Given the description of an element on the screen output the (x, y) to click on. 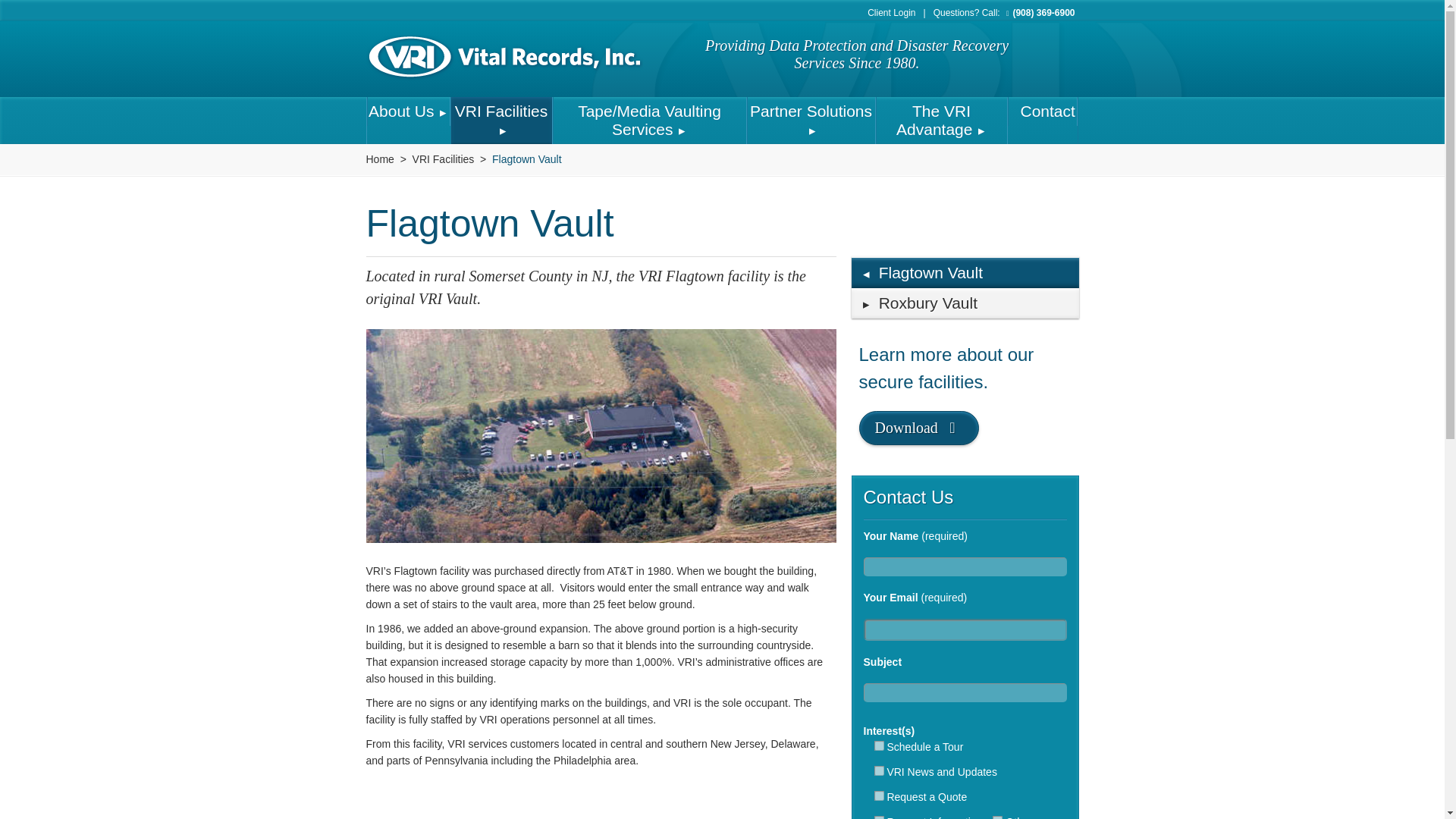
Home (379, 159)
Request Information (878, 817)
VRI Facilities (443, 159)
Client Login (898, 12)
Contact (1043, 111)
Roxbury Vault (964, 303)
Request a Quote (878, 795)
Partner Solutions (811, 120)
Download (918, 428)
The VRI Advantage (941, 120)
VRI Facilities (500, 120)
Schedule a Tour (878, 746)
Other (997, 817)
Flagtown Vault (527, 159)
About Us (407, 111)
